Given the description of an element on the screen output the (x, y) to click on. 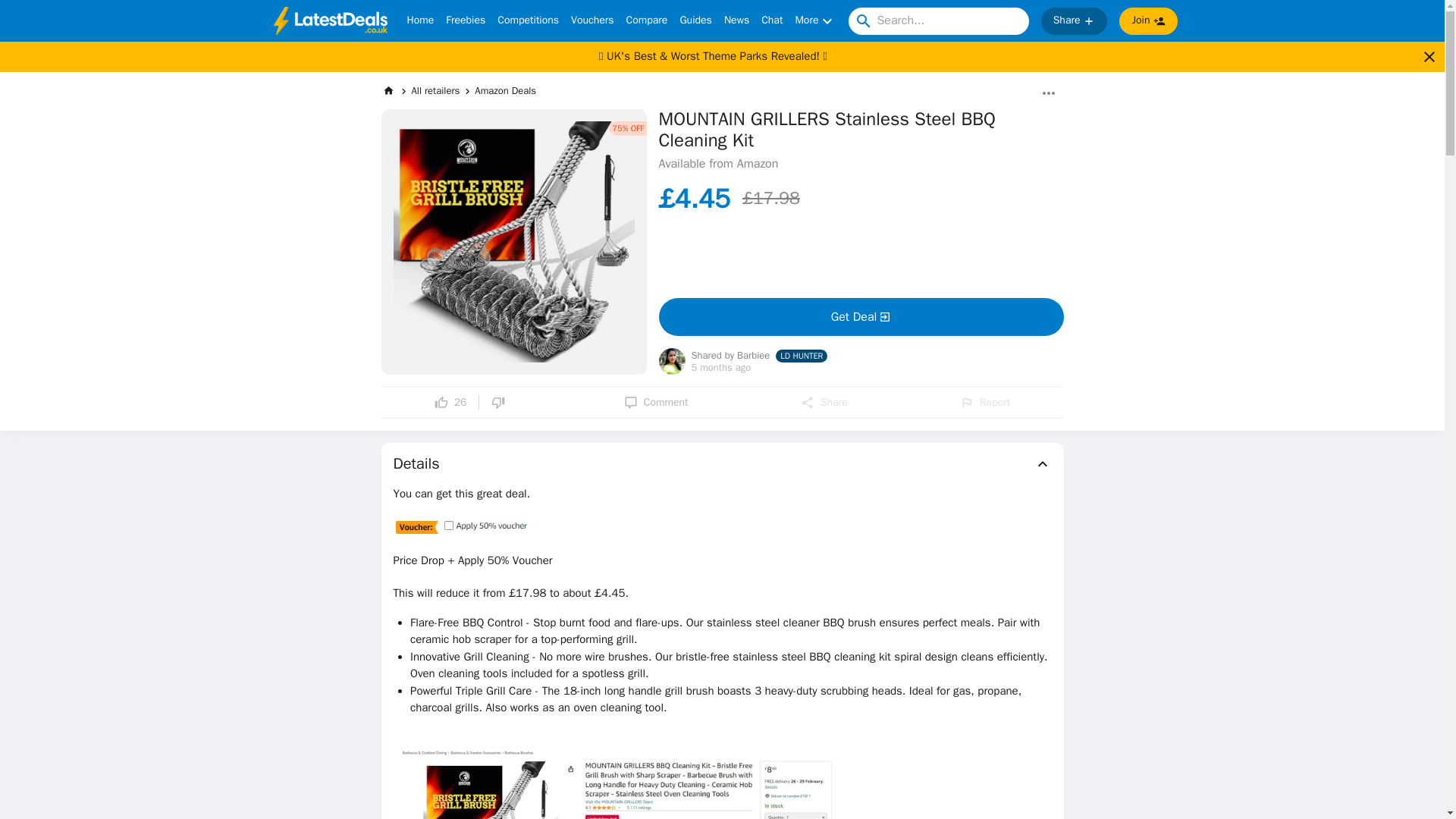
All retailers (435, 90)
Details (722, 464)
News (736, 21)
Share (823, 402)
Report (984, 402)
Share (1074, 21)
Guides (695, 21)
Competitions (528, 21)
Comment (656, 402)
Get Deal (860, 316)
